Given the description of an element on the screen output the (x, y) to click on. 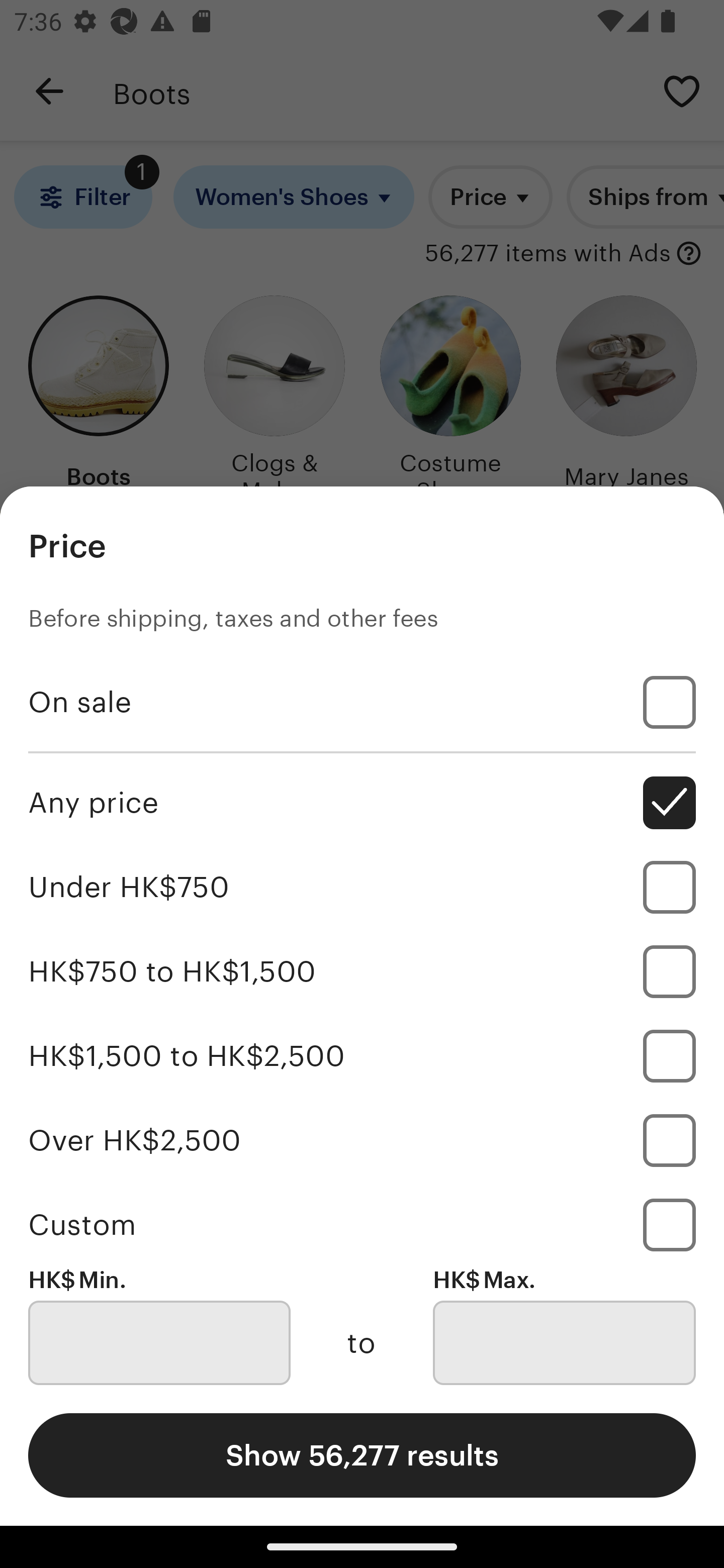
On sale (362, 702)
Any price (362, 802)
Under HK$750 (362, 887)
HK$750 to HK$1,500 (362, 970)
HK$1,500 to HK$2,500 (362, 1054)
Over HK$2,500 (362, 1139)
Custom (362, 1224)
Show 56,277 results (361, 1454)
